Given the description of an element on the screen output the (x, y) to click on. 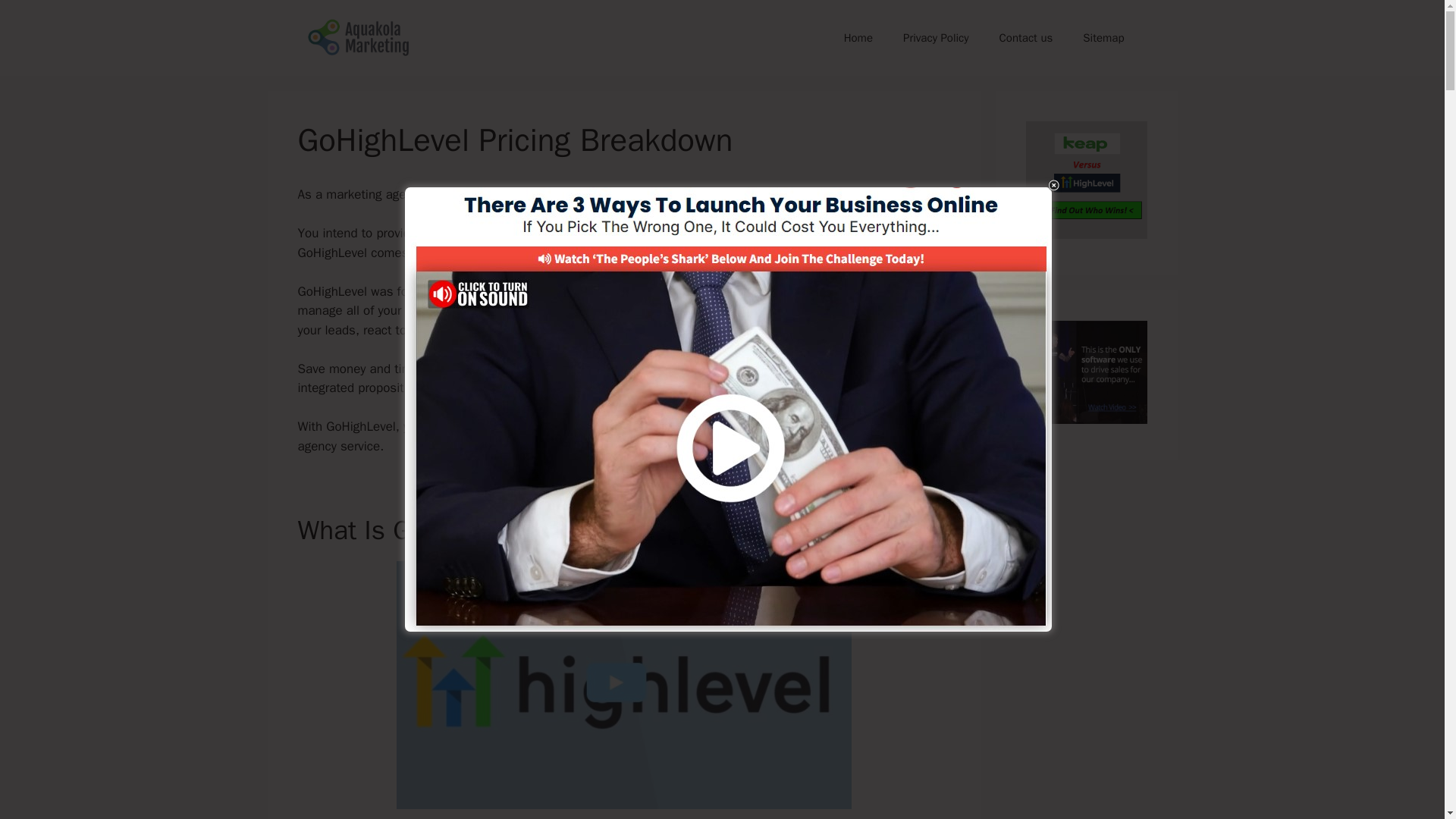
Privacy Policy (936, 37)
Sitemap (1102, 37)
Contact us (1026, 37)
Home (858, 37)
